Given the description of an element on the screen output the (x, y) to click on. 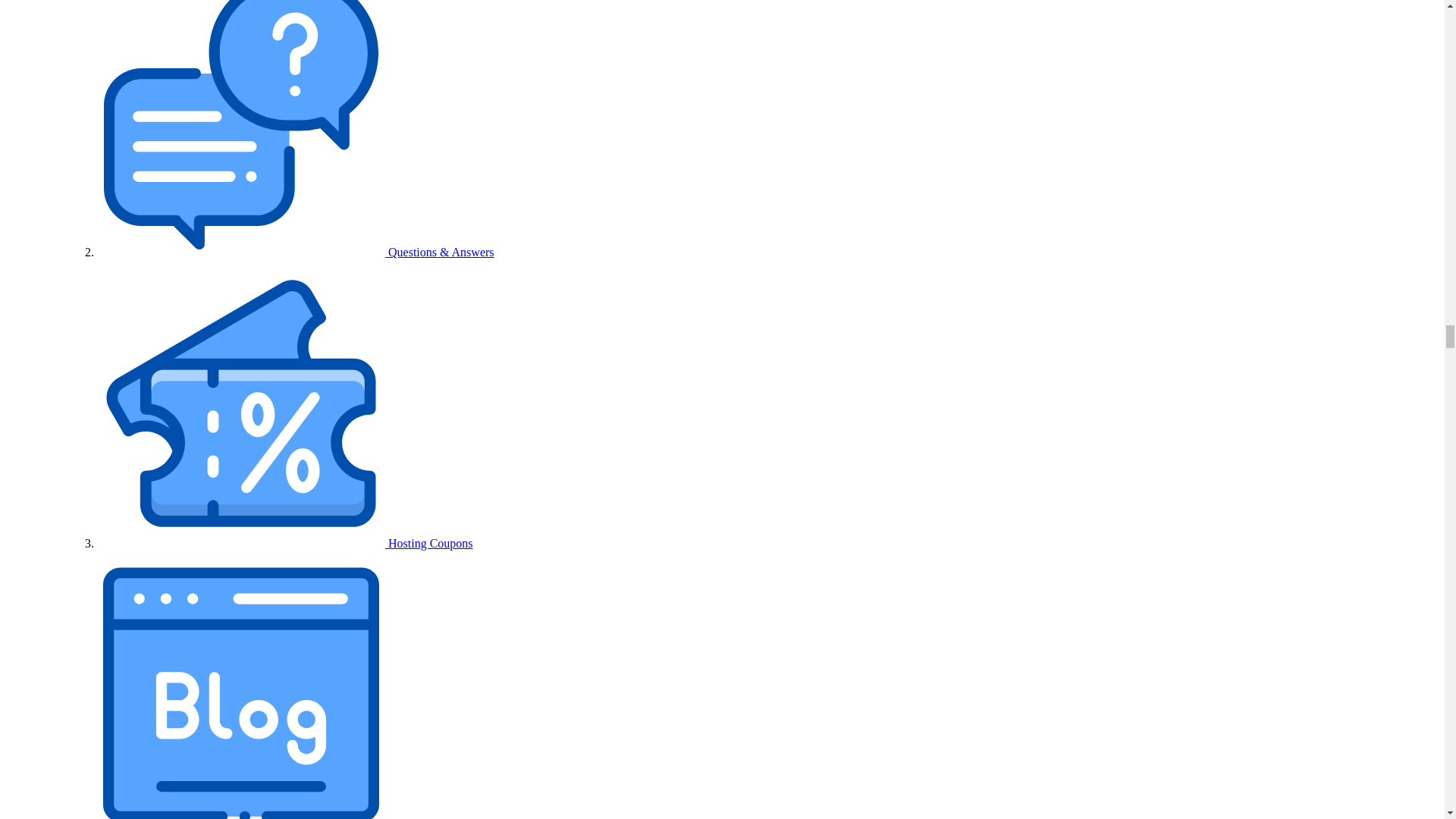
Hosting Coupons (285, 543)
